Given the description of an element on the screen output the (x, y) to click on. 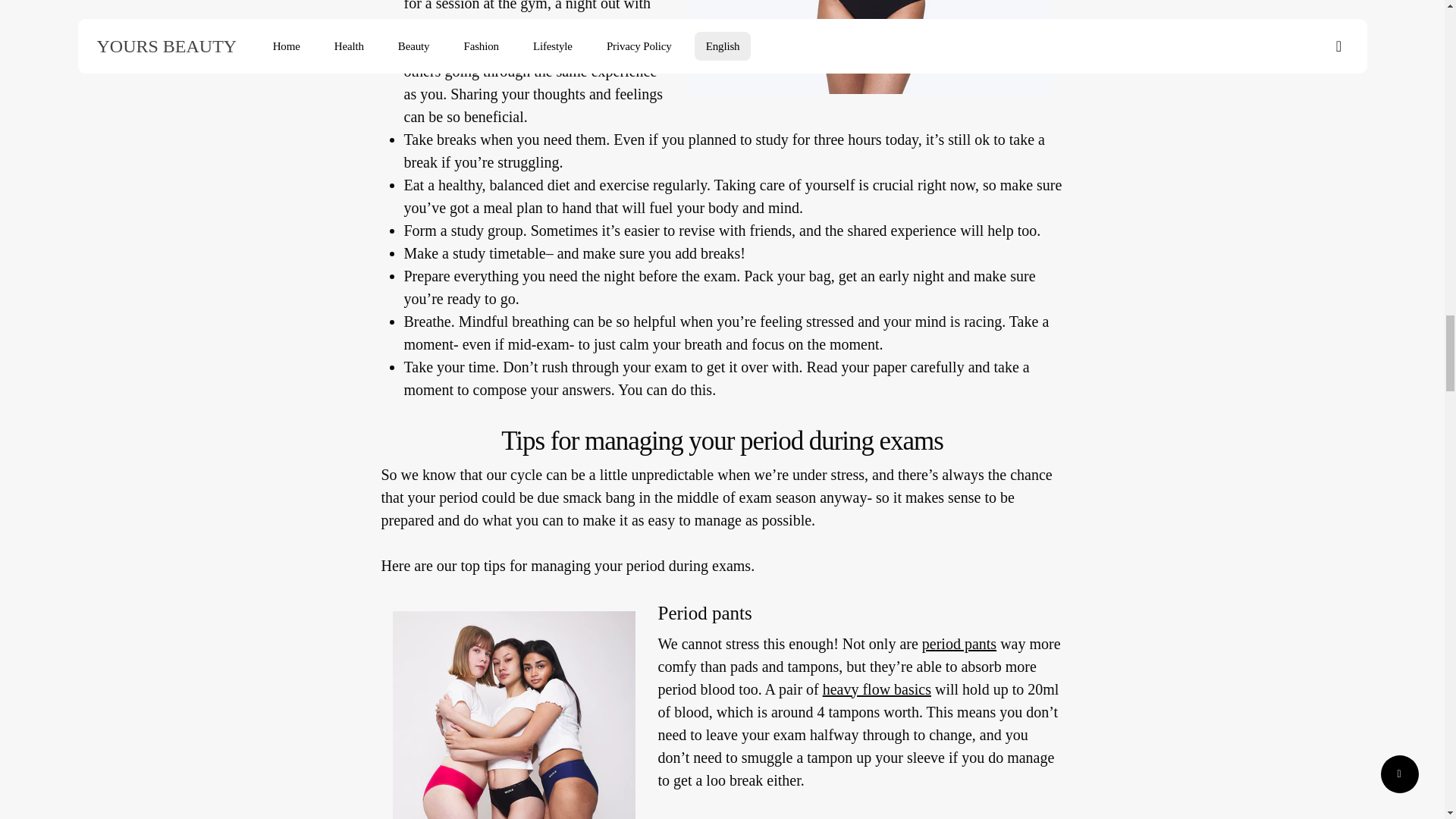
period pants (958, 645)
heavy flow basics (876, 690)
